Given the description of an element on the screen output the (x, y) to click on. 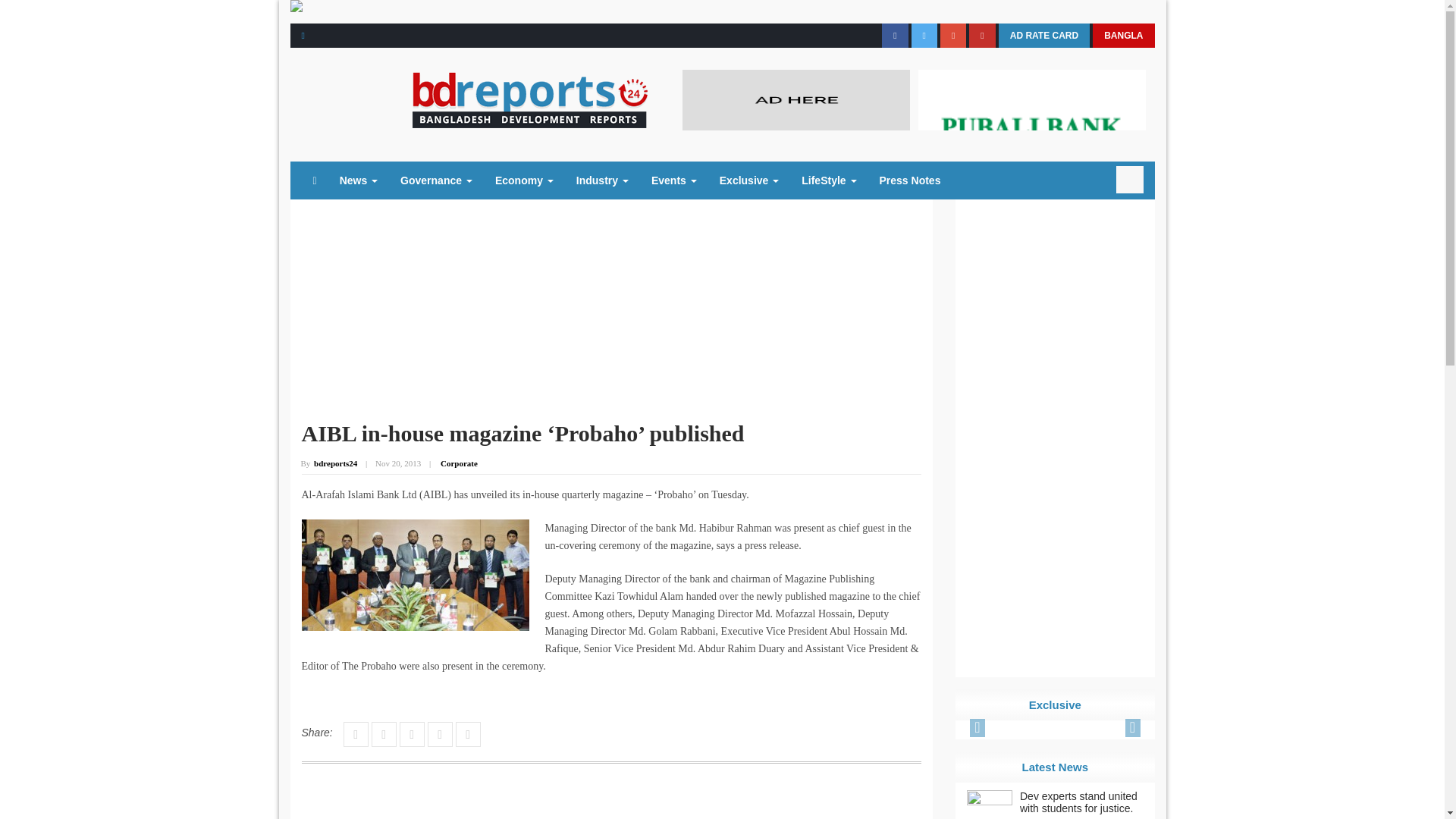
Exclusive (748, 180)
Events (673, 180)
Industry (602, 180)
Governance (435, 180)
News (358, 180)
AD RATE CARD (1043, 35)
search (1129, 179)
News (358, 180)
BANGLA (1123, 35)
Governance (435, 180)
